Given the description of an element on the screen output the (x, y) to click on. 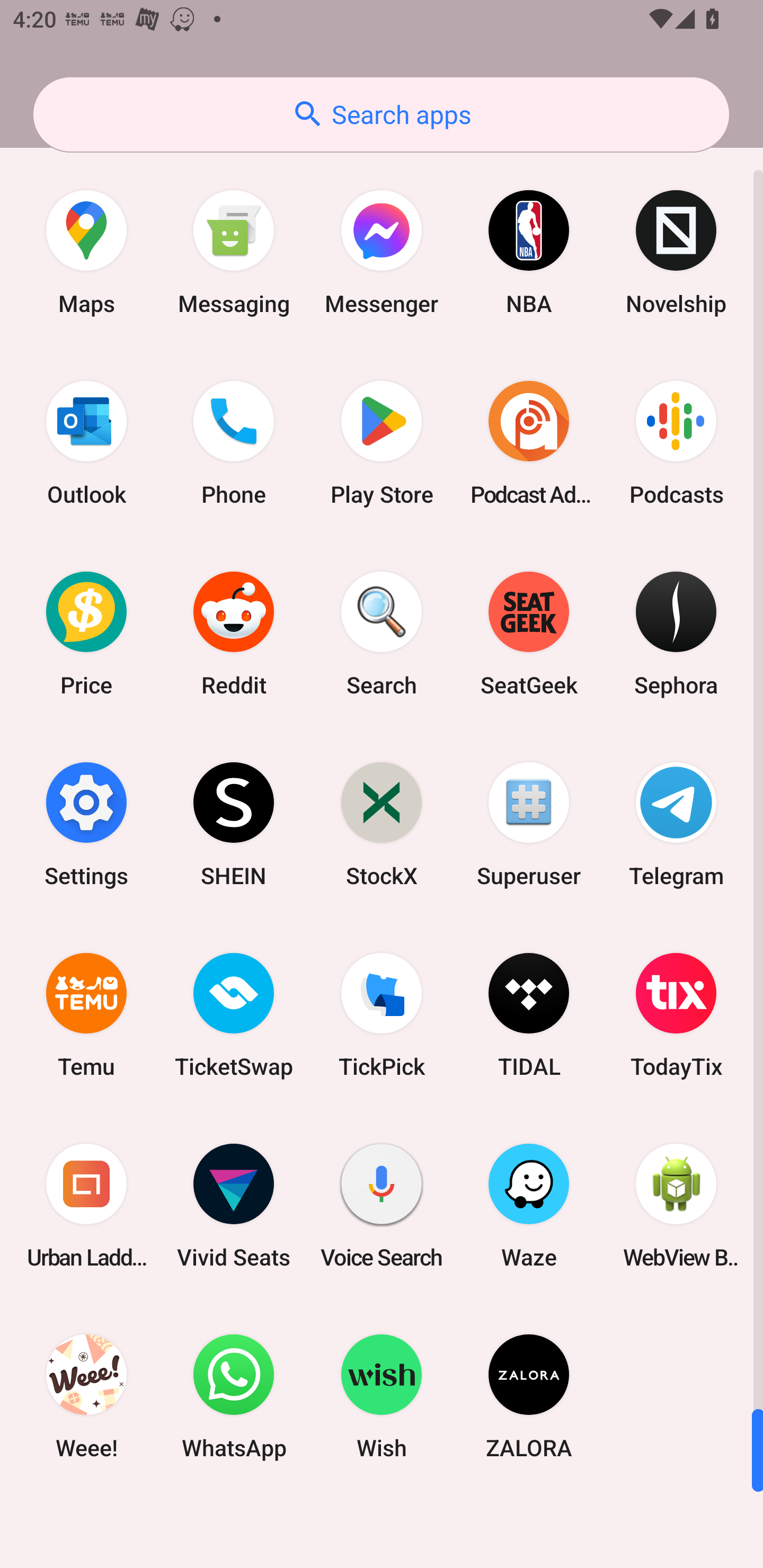
  Search apps (381, 114)
Maps (86, 252)
Messaging (233, 252)
Messenger (381, 252)
NBA (528, 252)
Novelship (676, 252)
Outlook (86, 442)
Phone (233, 442)
Play Store (381, 442)
Podcast Addict (528, 442)
Podcasts (676, 442)
Price (86, 633)
Reddit (233, 633)
Search (381, 633)
SeatGeek (528, 633)
Sephora (676, 633)
Settings (86, 823)
SHEIN (233, 823)
StockX (381, 823)
Superuser (528, 823)
Telegram (676, 823)
Temu (86, 1014)
TicketSwap (233, 1014)
TickPick (381, 1014)
TIDAL (528, 1014)
TodayTix (676, 1014)
Urban Ladder (86, 1205)
Vivid Seats (233, 1205)
Voice Search (381, 1205)
Waze (528, 1205)
WebView Browser Tester (676, 1205)
Weee! (86, 1396)
WhatsApp (233, 1396)
Wish (381, 1396)
ZALORA (528, 1396)
